Given the description of an element on the screen output the (x, y) to click on. 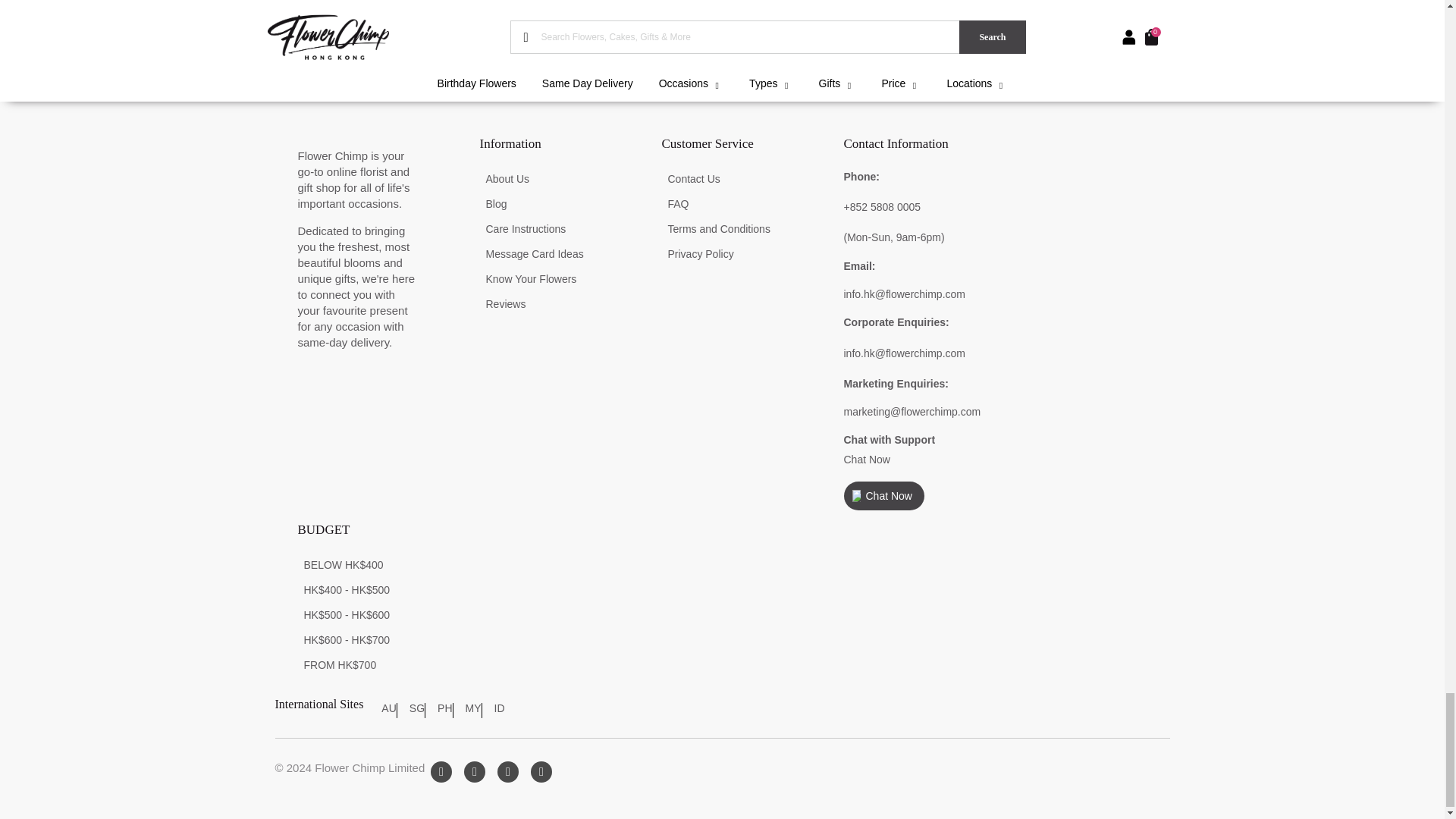
Subcribe (1120, 23)
